Given the description of an element on the screen output the (x, y) to click on. 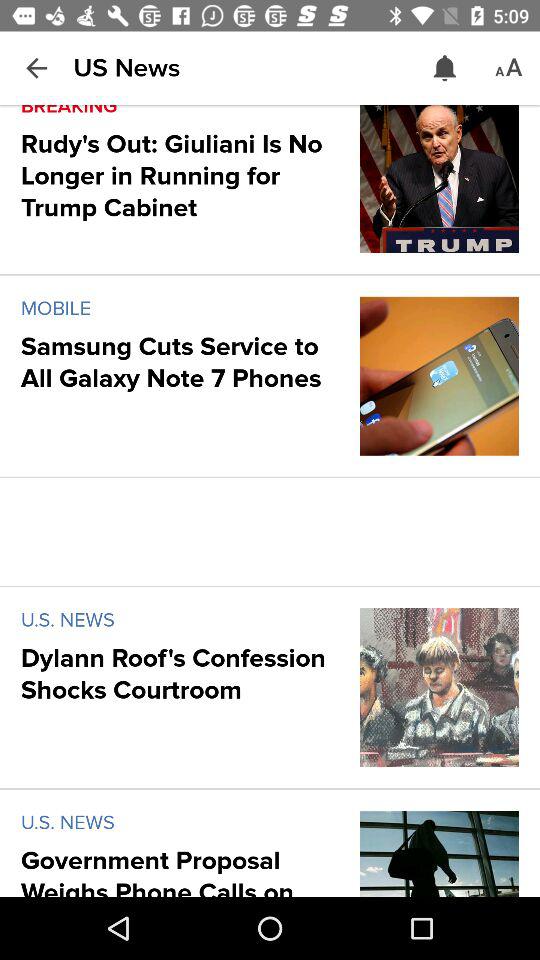
launch the icon next to the us news icon (36, 68)
